Given the description of an element on the screen output the (x, y) to click on. 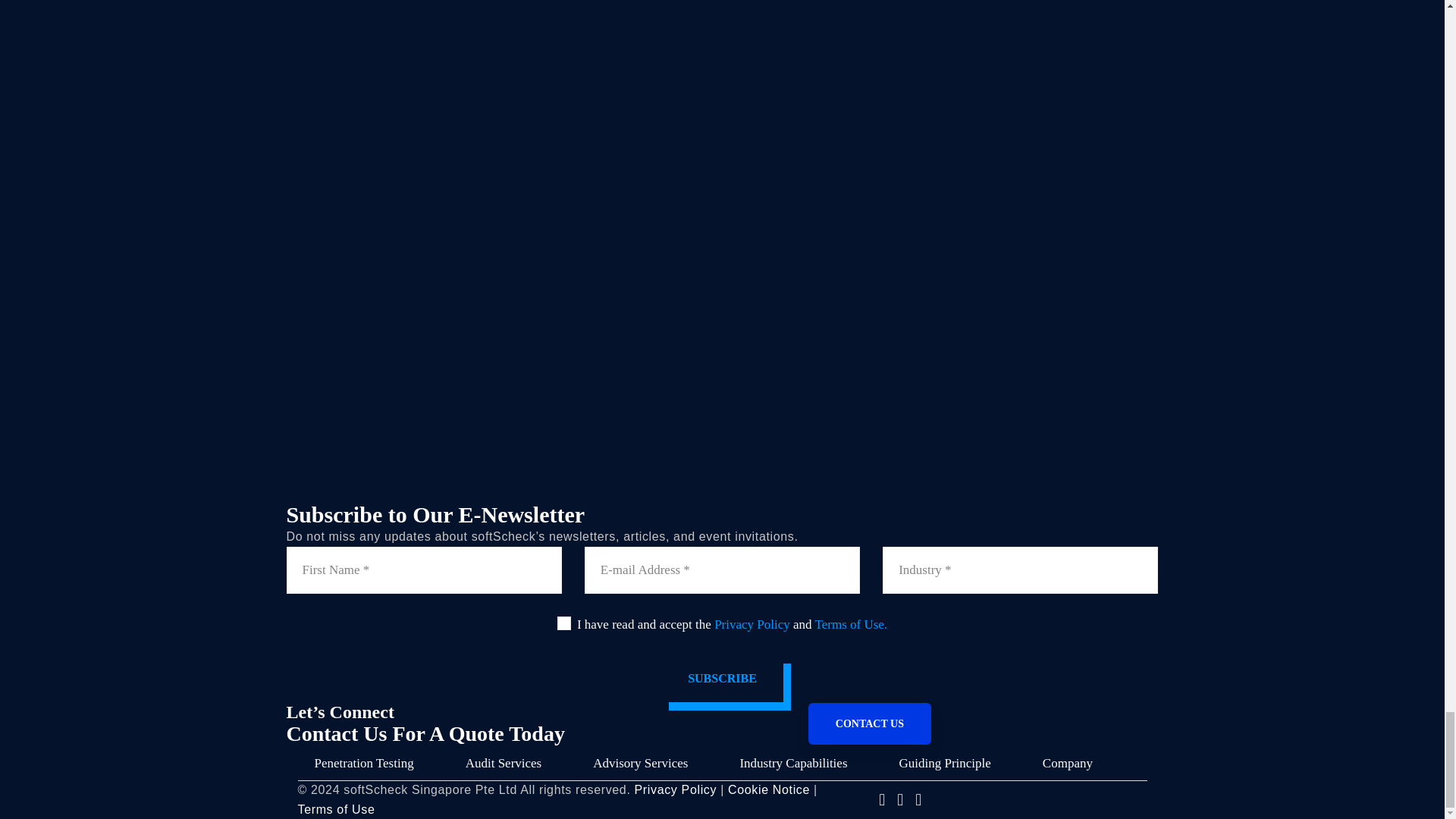
1 (564, 623)
